Given the description of an element on the screen output the (x, y) to click on. 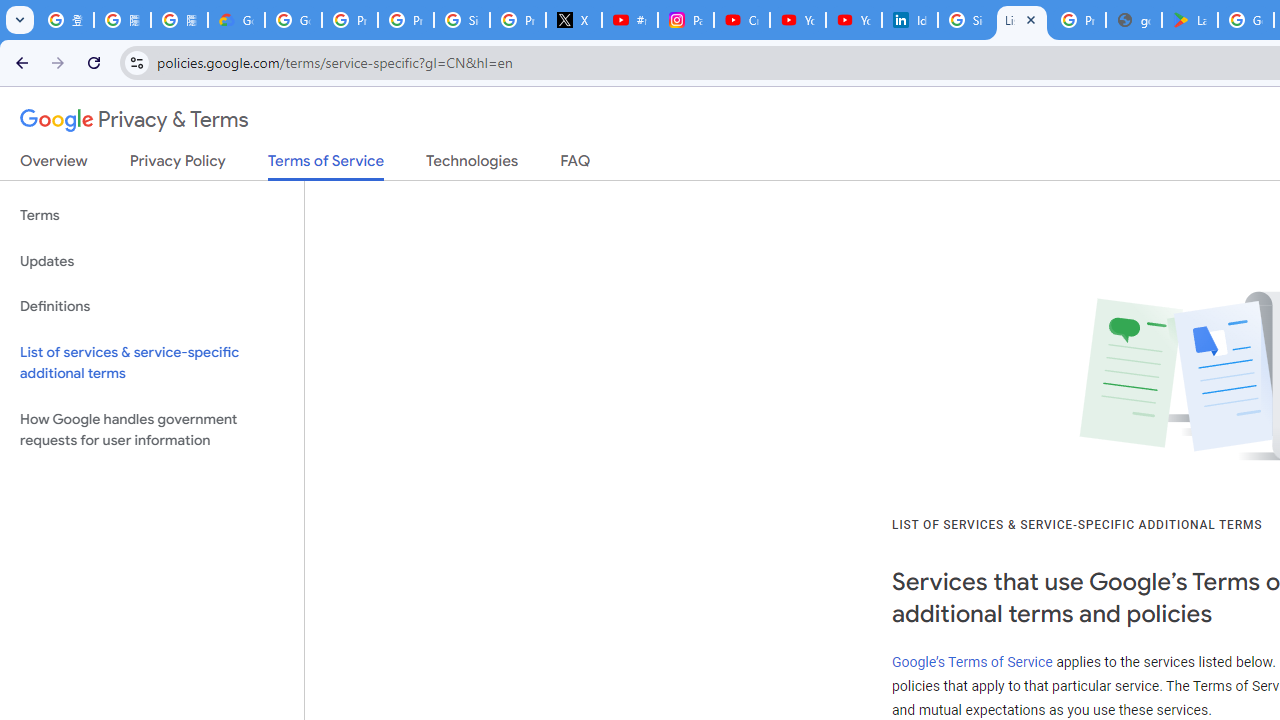
Privacy Help Center - Policies Help (405, 20)
Last Shelter: Survival - Apps on Google Play (1190, 20)
How Google handles government requests for user information (152, 429)
#nbabasketballhighlights - YouTube (629, 20)
Sign in - Google Accounts (461, 20)
